Given the description of an element on the screen output the (x, y) to click on. 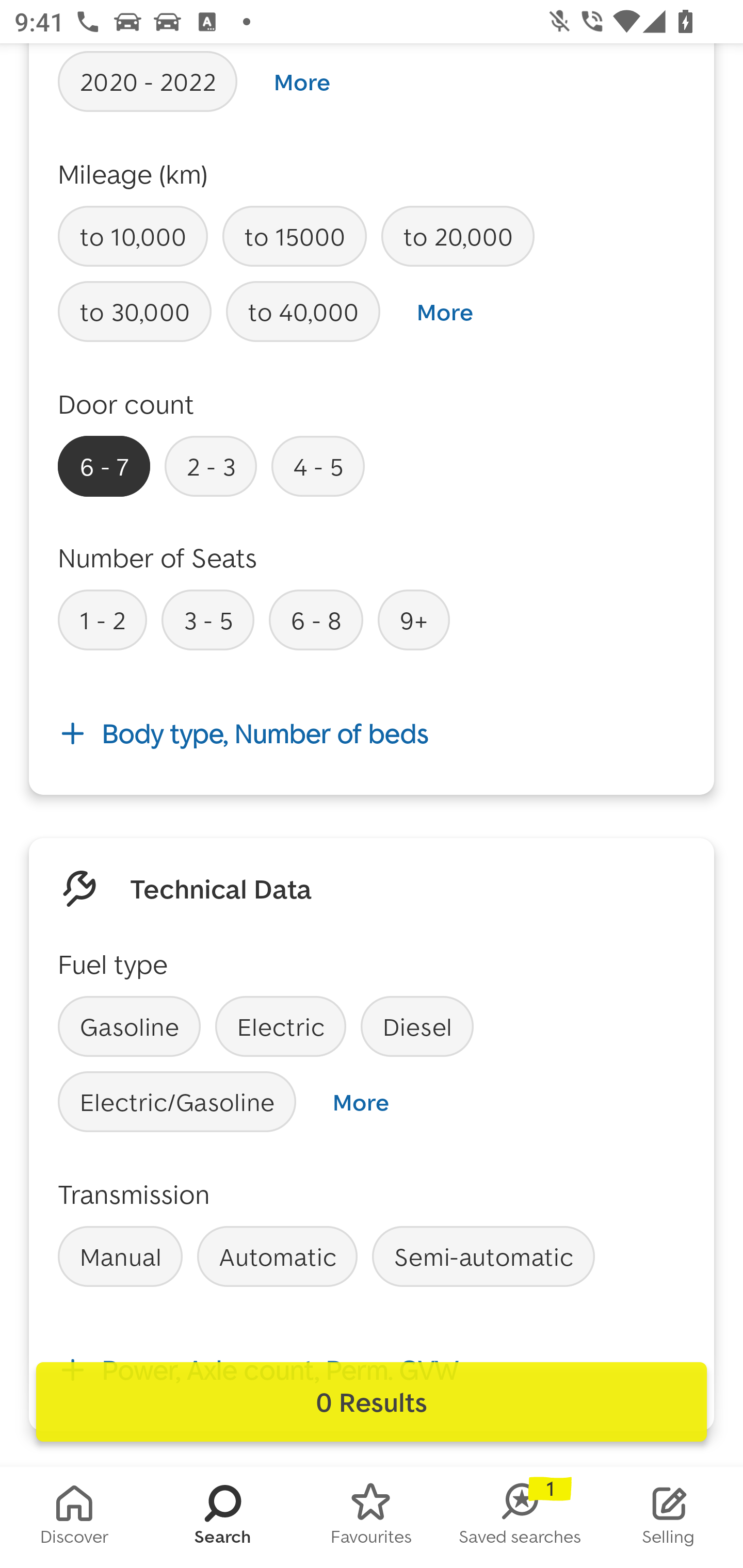
2020 - 2022 (147, 81)
More (301, 81)
Mileage (km) (132, 173)
to 10,000 (132, 235)
to 15000 (294, 235)
to 20,000 (457, 235)
to 30,000 (134, 310)
to 40,000 (302, 310)
More (444, 311)
Door count (125, 403)
6 - 7 (103, 466)
2 - 3 (210, 466)
4 - 5 (317, 466)
Number of Seats (157, 557)
1 - 2 (102, 619)
3 - 5 (207, 619)
6 - 8 (315, 619)
9+ (413, 619)
Body type, Number of beds (371, 733)
Technical Data (221, 888)
Fuel type (112, 964)
Gasoline (128, 1025)
Electric (280, 1025)
Diesel (417, 1025)
Electric/Gasoline (176, 1101)
More (360, 1101)
Transmission (133, 1194)
Manual (119, 1256)
Automatic (276, 1256)
Semi-automatic (483, 1256)
0 Results (371, 1401)
HOMESCREEN Discover (74, 1517)
SEARCH Search (222, 1517)
FAVORITES Favourites (371, 1517)
SAVED_SEARCHES Saved searches 1 (519, 1517)
STOCK_LIST Selling (668, 1517)
